Given the description of an element on the screen output the (x, y) to click on. 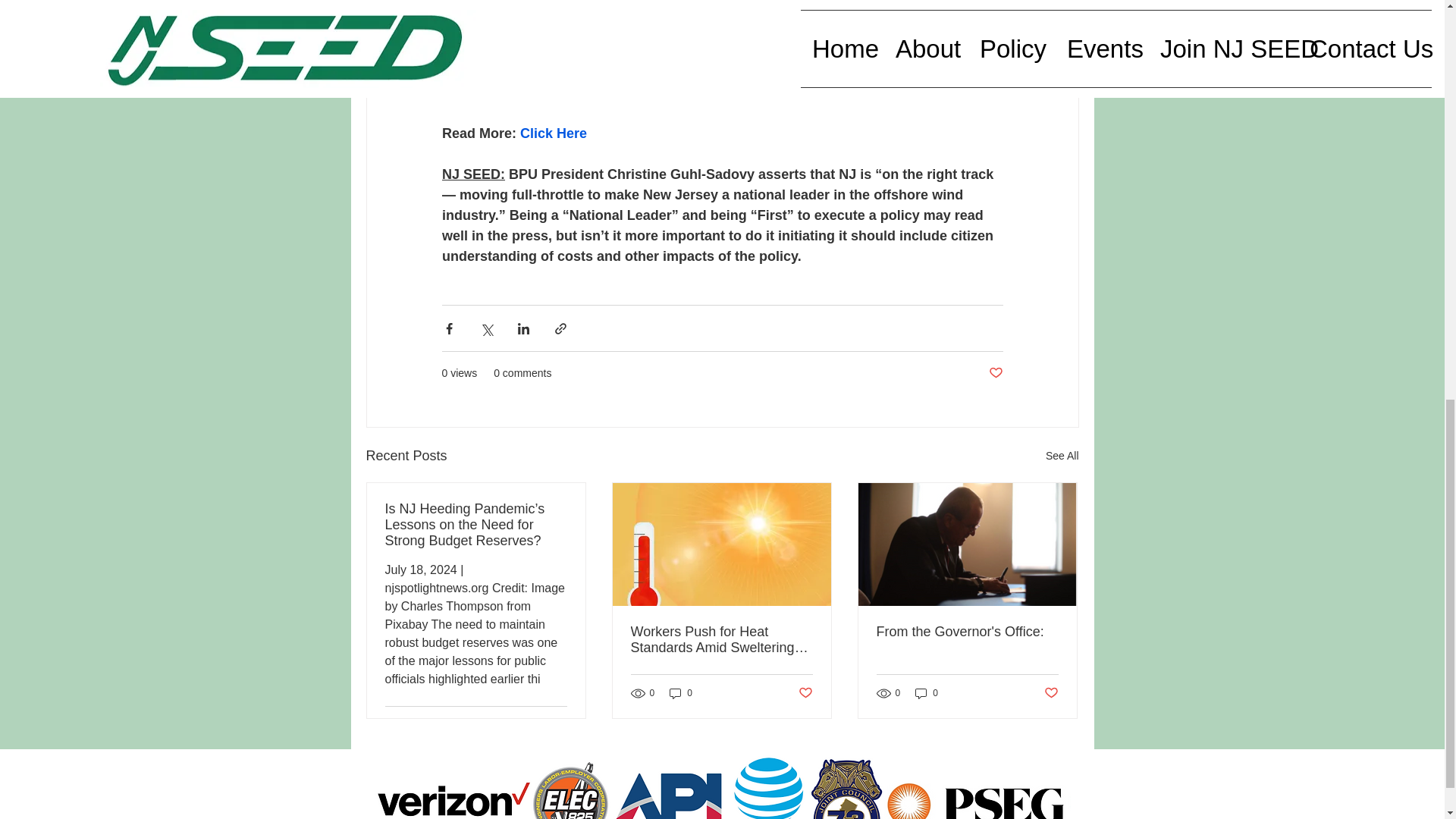
Post not marked as liked (558, 725)
See All (1061, 455)
Post not marked as liked (804, 693)
Post not marked as liked (995, 373)
Click Here (552, 133)
0 (926, 692)
Workers Push for Heat Standards Amid Sweltering Summer (721, 640)
From the Governor's Office: (967, 631)
0 (681, 692)
